Given the description of an element on the screen output the (x, y) to click on. 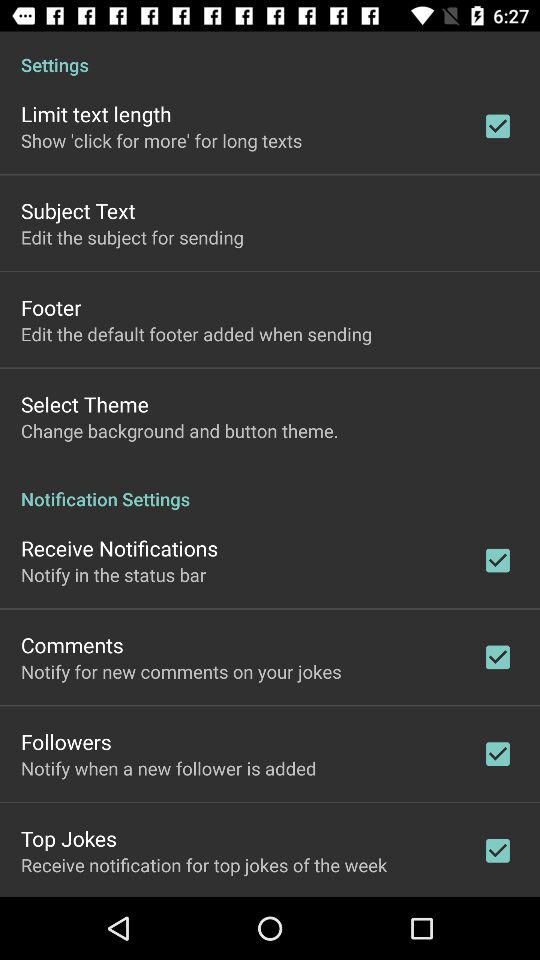
launch app above show click for app (96, 113)
